Given the description of an element on the screen output the (x, y) to click on. 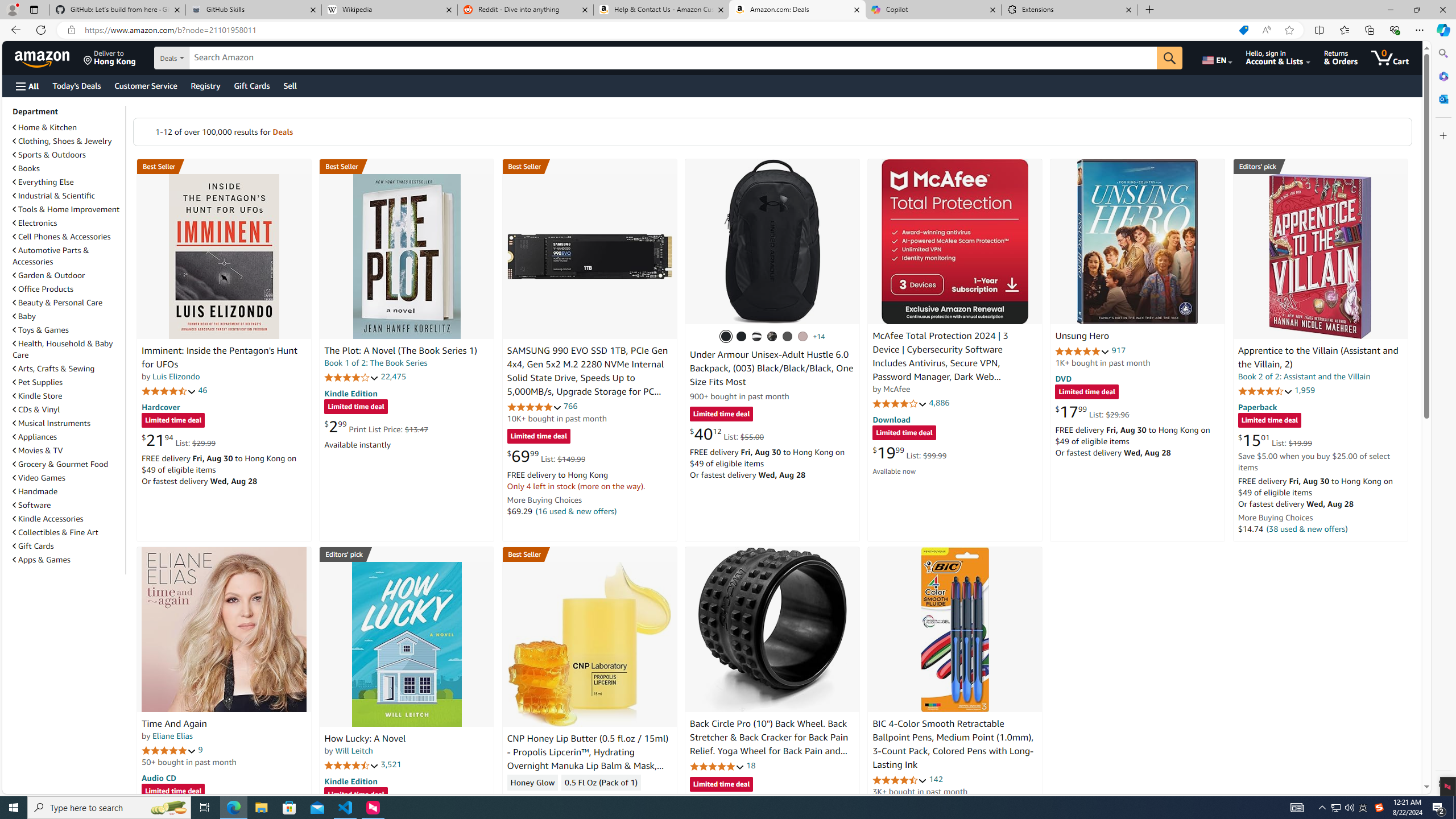
Collectibles & Fine Art (67, 532)
5.0 out of 5 stars (168, 750)
Sports & Outdoors (67, 154)
Books (67, 167)
Imminent: Inside the Pentagon's Hunt for UFOs (219, 358)
4,886 (938, 402)
Toys & Games (67, 329)
Time And Again (173, 723)
$15.01 List: $19.99 (1274, 439)
Unsung Hero (1082, 336)
Appliances (67, 436)
Tools & Home Improvement (67, 208)
